Given the description of an element on the screen output the (x, y) to click on. 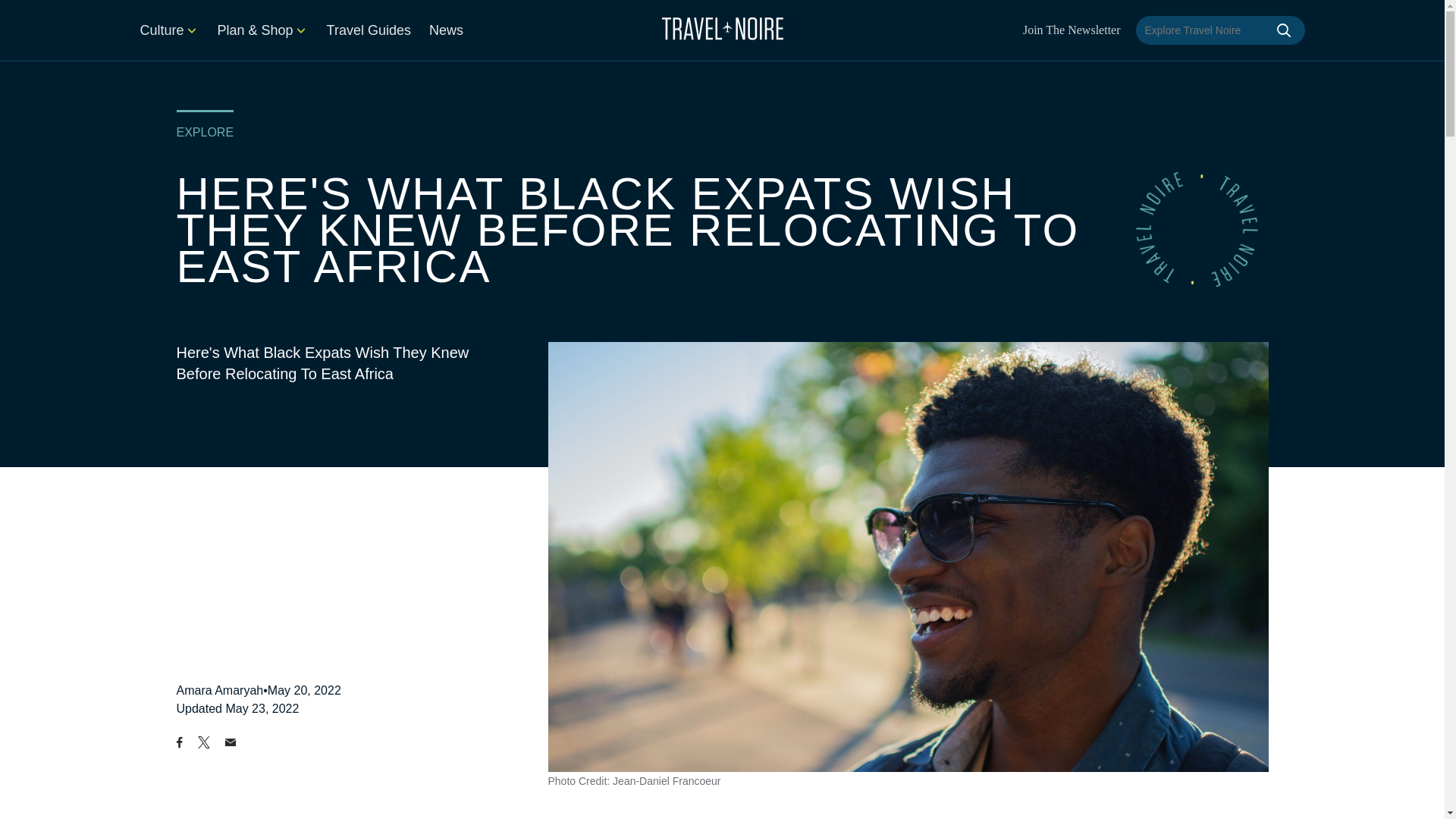
EXPLORE (204, 132)
Amara Amaryah (219, 689)
Culture (168, 30)
Newsletter (1072, 29)
Travel Guides (368, 29)
Amara Amaryah (219, 689)
Join The Newsletter (1072, 29)
News (446, 29)
Travel Noire (722, 28)
